Given the description of an element on the screen output the (x, y) to click on. 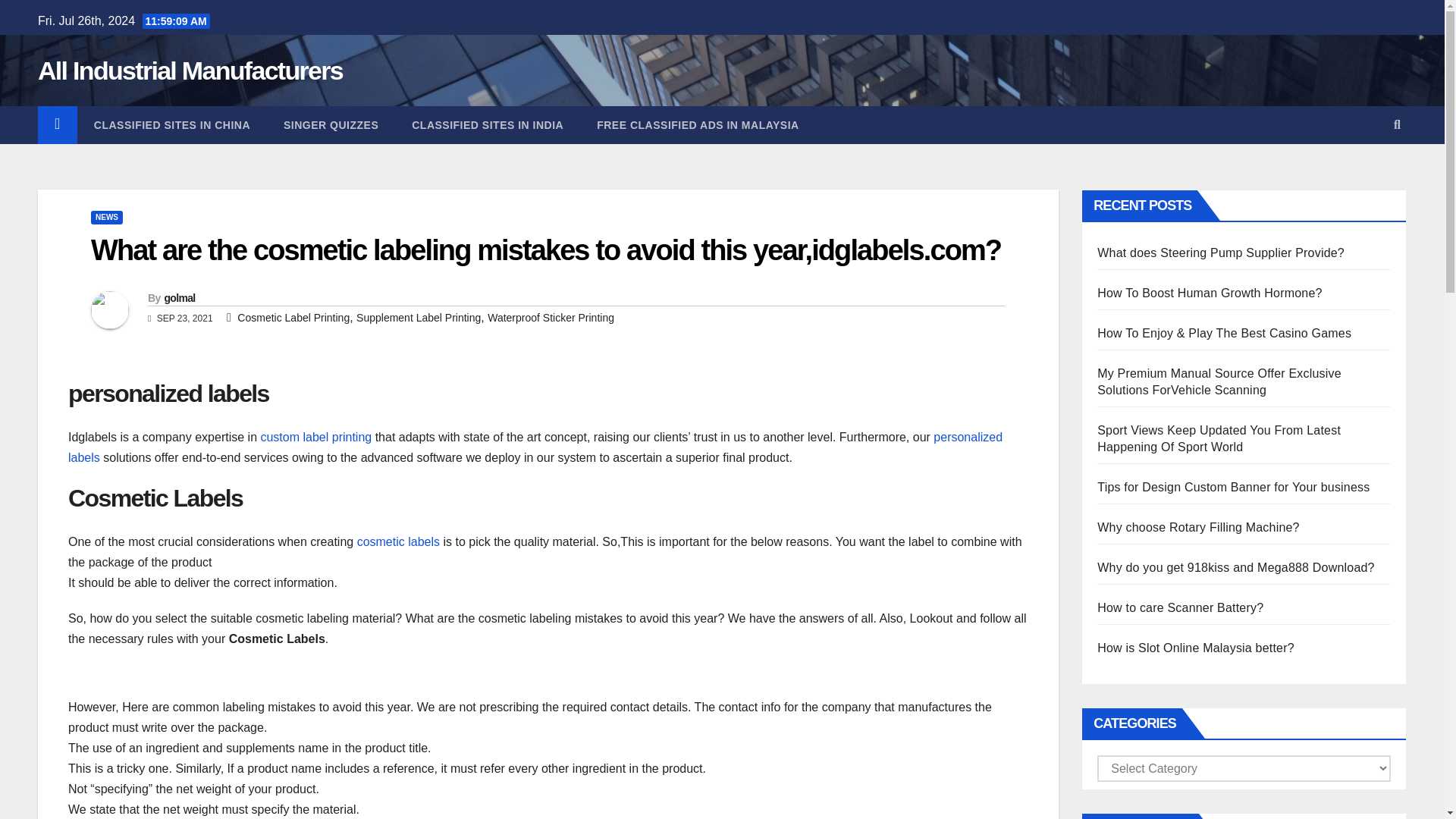
CLASSIFIED SITES IN CHINA (171, 125)
custom label printing (315, 436)
golmal (179, 297)
CLASSIFIED SITES IN INDIA (486, 125)
Waterproof Sticker Printing (550, 317)
cosmetic labels (400, 541)
Classified Sites in India (486, 125)
Cosmetic Label Printing (293, 317)
Singer Quizzes (330, 125)
FREE CLASSIFIED ADS IN MALAYSIA (697, 125)
personalized labels (535, 447)
NEWS (106, 217)
Free Classified Ads in Malaysia (697, 125)
